Given the description of an element on the screen output the (x, y) to click on. 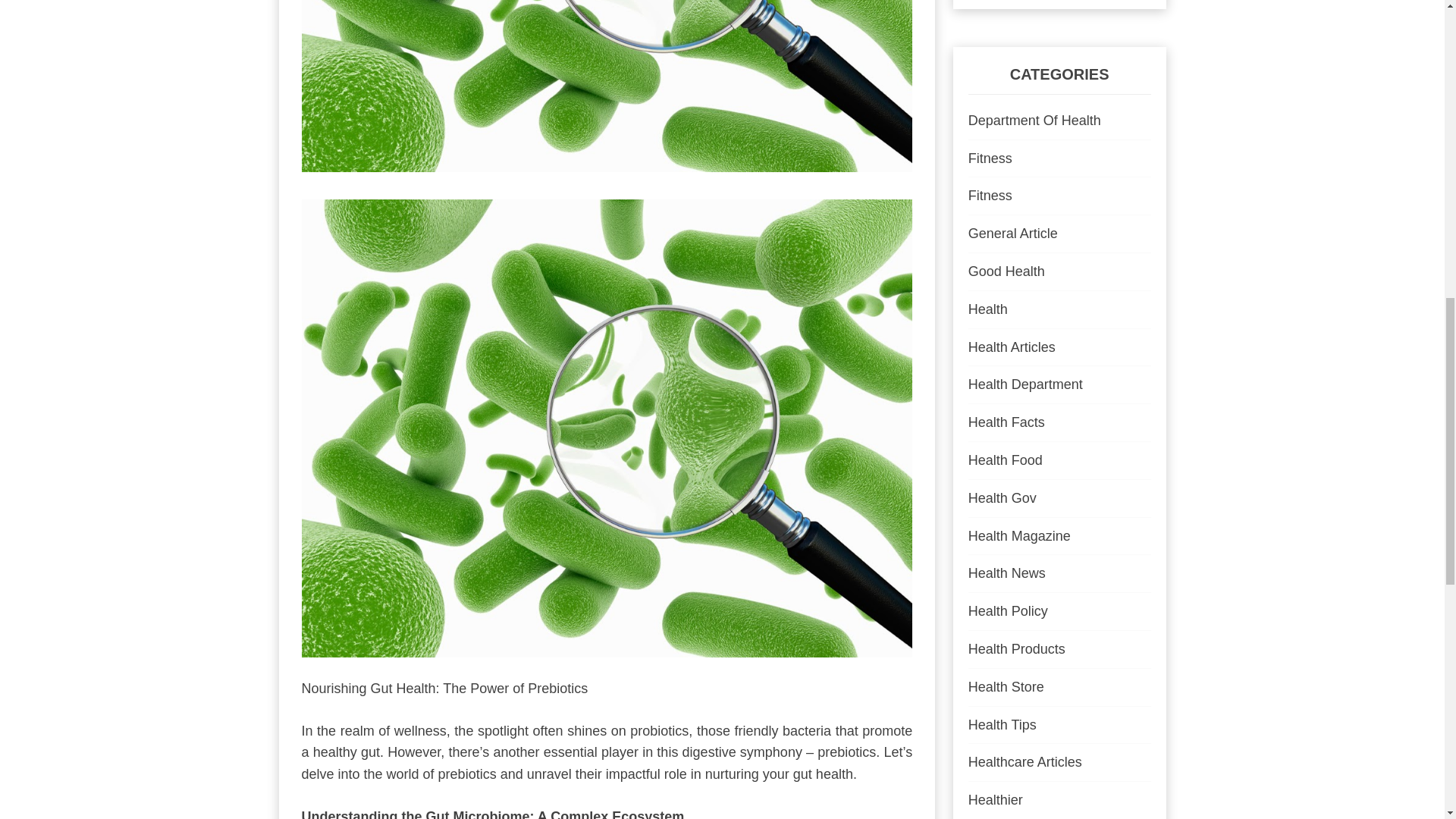
Department Of Health (1034, 120)
Fitness (989, 158)
